Given the description of an element on the screen output the (x, y) to click on. 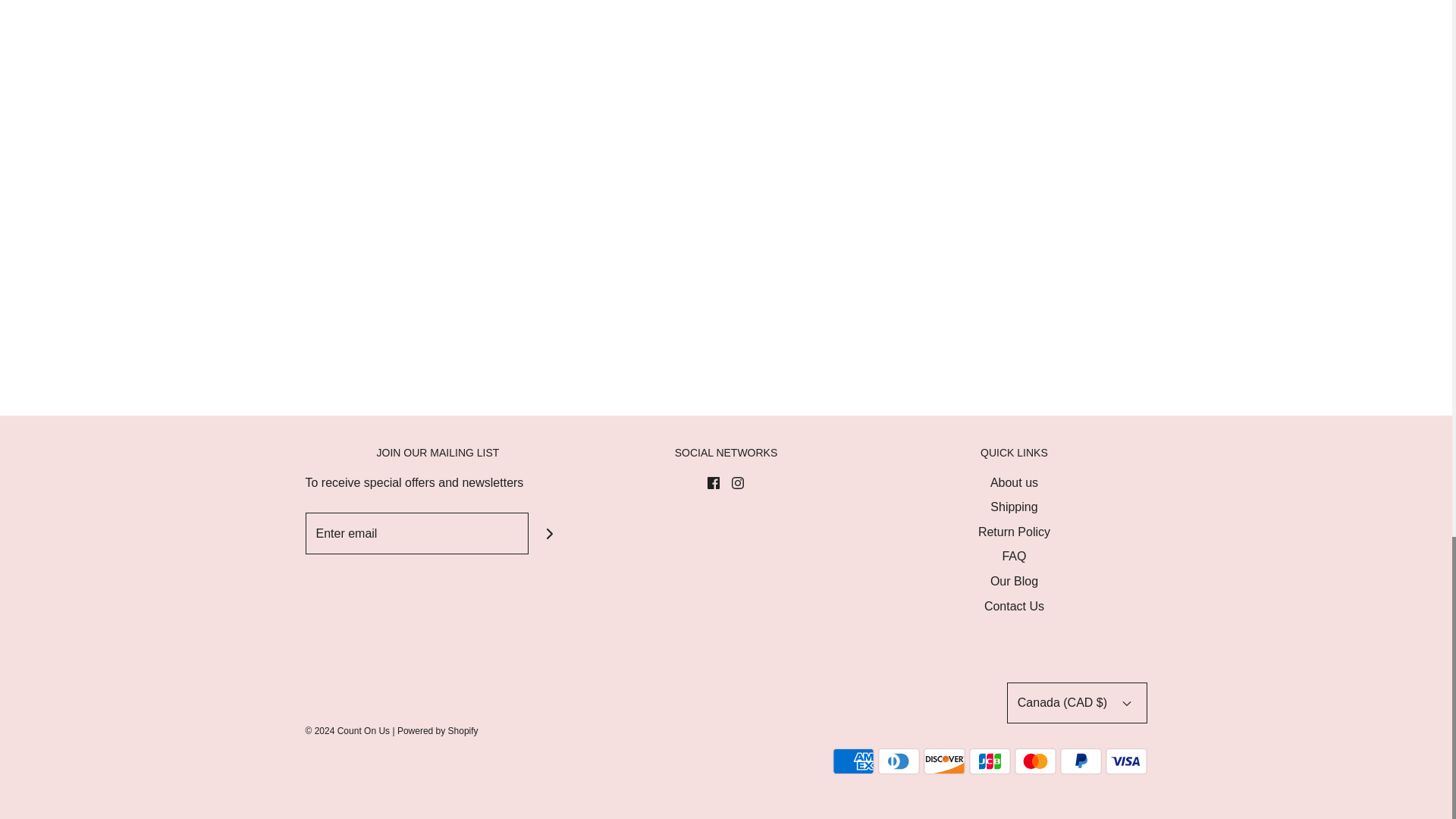
American Express (853, 761)
Instagram icon (738, 482)
JCB (989, 761)
Discover (944, 761)
Mastercard (1035, 761)
PayPal (1080, 761)
Facebook icon (713, 482)
Diners Club (898, 761)
Visa (1126, 761)
